Given the description of an element on the screen output the (x, y) to click on. 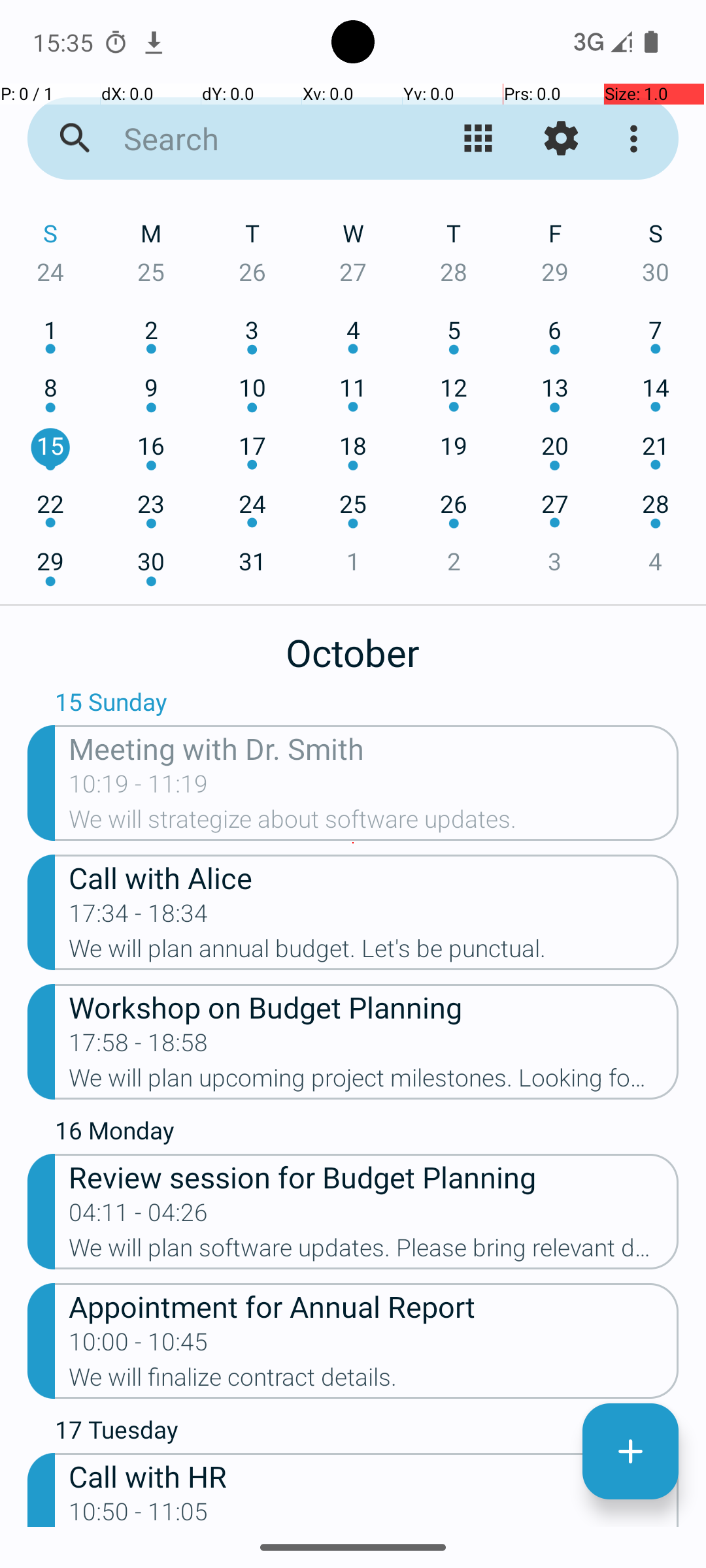
10:19 - 11:19 Element type: android.widget.TextView (137, 787)
We will strategize about software updates. Element type: android.widget.TextView (373, 822)
17:34 - 18:34 Element type: android.widget.TextView (137, 916)
We will plan annual budget. Let's be punctual. Element type: android.widget.TextView (373, 952)
17:58 - 18:58 Element type: android.widget.TextView (137, 1046)
We will plan upcoming project milestones. Looking forward to productive discussions. Element type: android.widget.TextView (373, 1081)
04:11 - 04:26 Element type: android.widget.TextView (137, 1216)
We will plan software updates. Please bring relevant documents. Element type: android.widget.TextView (373, 1251)
10:00 - 10:45 Element type: android.widget.TextView (137, 1345)
We will finalize contract details. Element type: android.widget.TextView (373, 1380)
10:50 - 11:05 Element type: android.widget.TextView (137, 1512)
